Given the description of an element on the screen output the (x, y) to click on. 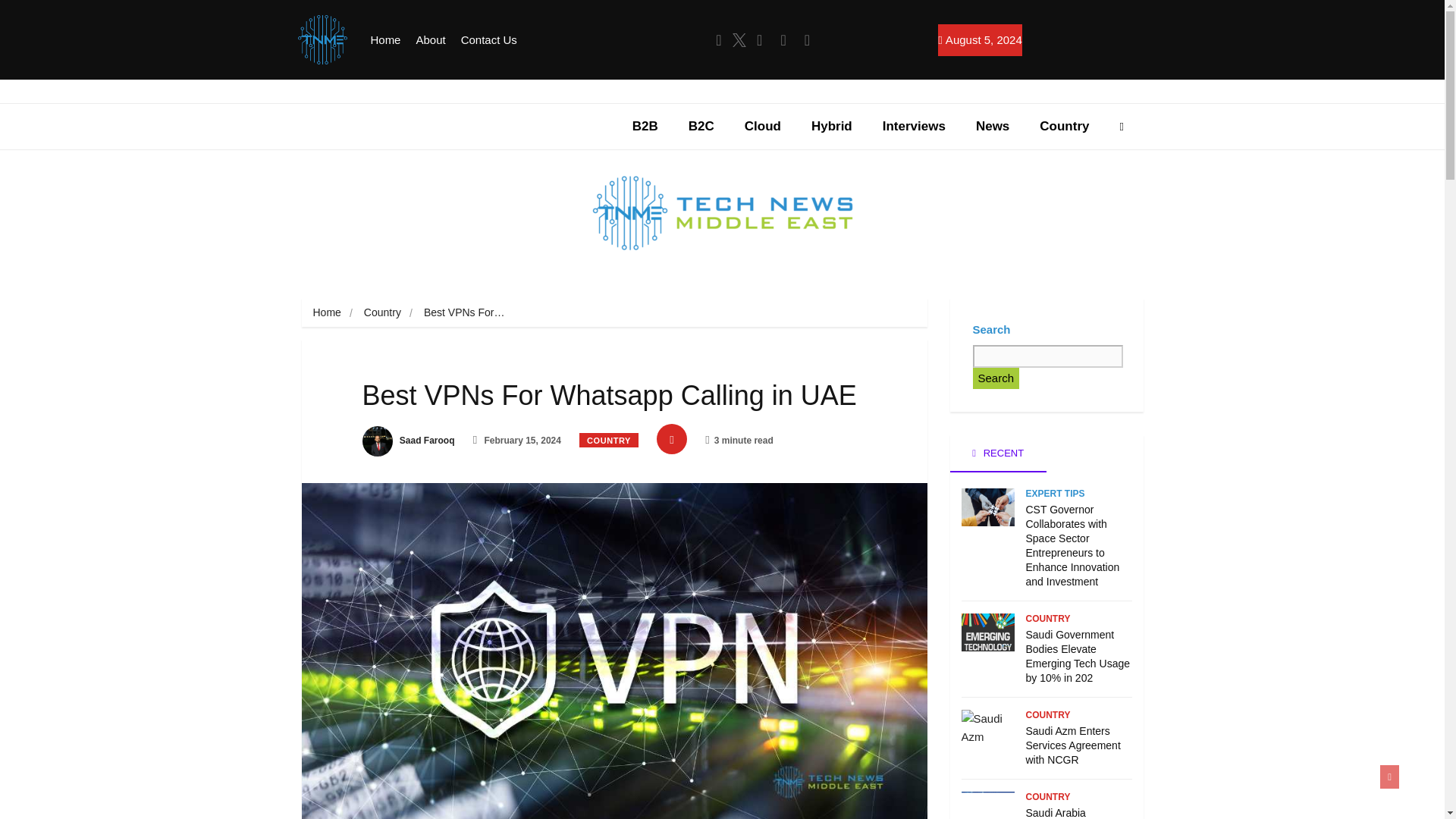
Country (382, 312)
News (992, 126)
Country (1064, 126)
Contact Us (488, 40)
Interviews (913, 126)
Hybrid (831, 126)
COUNTRY (609, 440)
Home (384, 40)
Cloud (762, 126)
B2B (644, 126)
B2C (700, 126)
Saad Farooq (408, 439)
About (429, 40)
Home (326, 312)
